Given the description of an element on the screen output the (x, y) to click on. 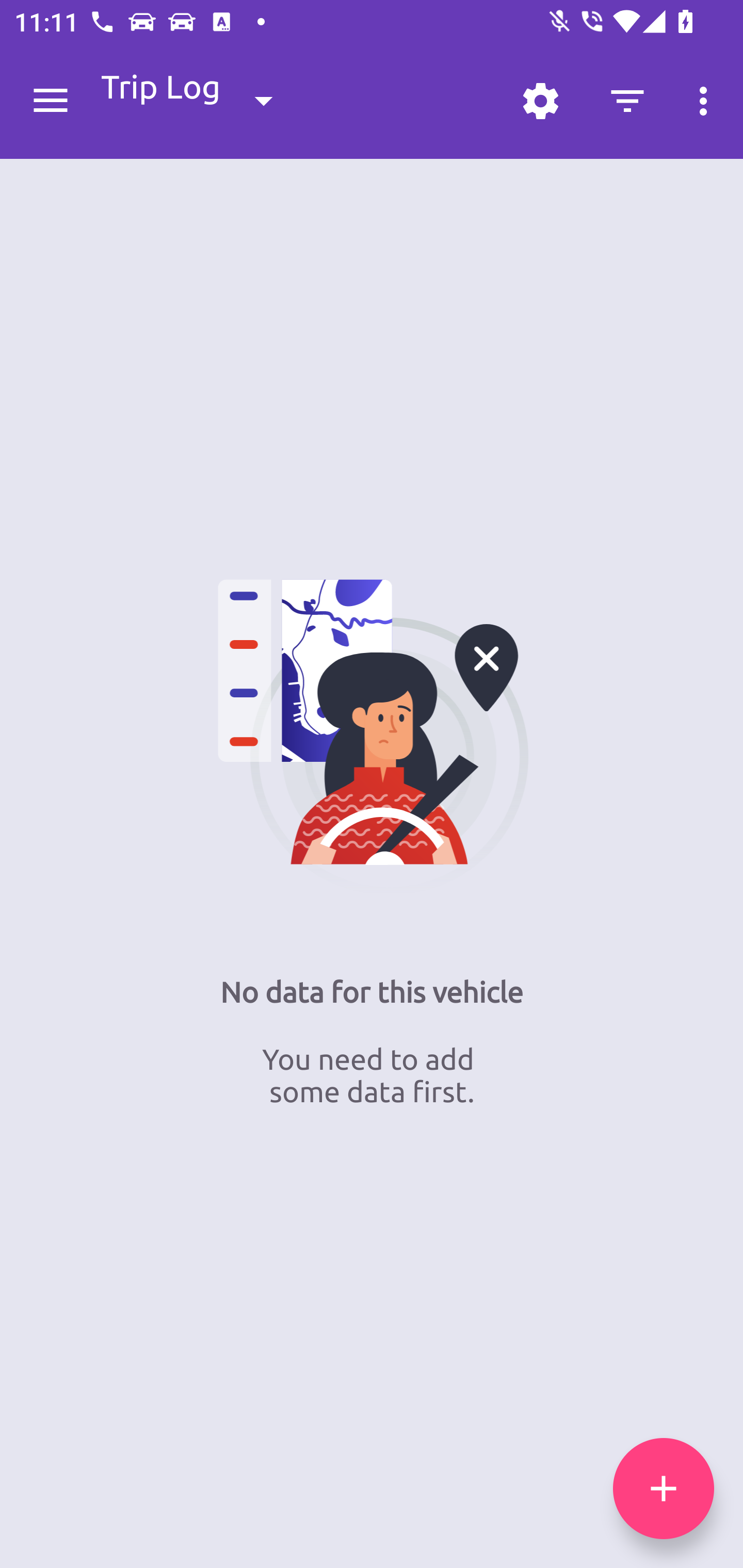
Fuelio (50, 101)
Settings (540, 101)
Filter (626, 101)
More options (706, 101)
Trip Log (203, 100)
